Given the description of an element on the screen output the (x, y) to click on. 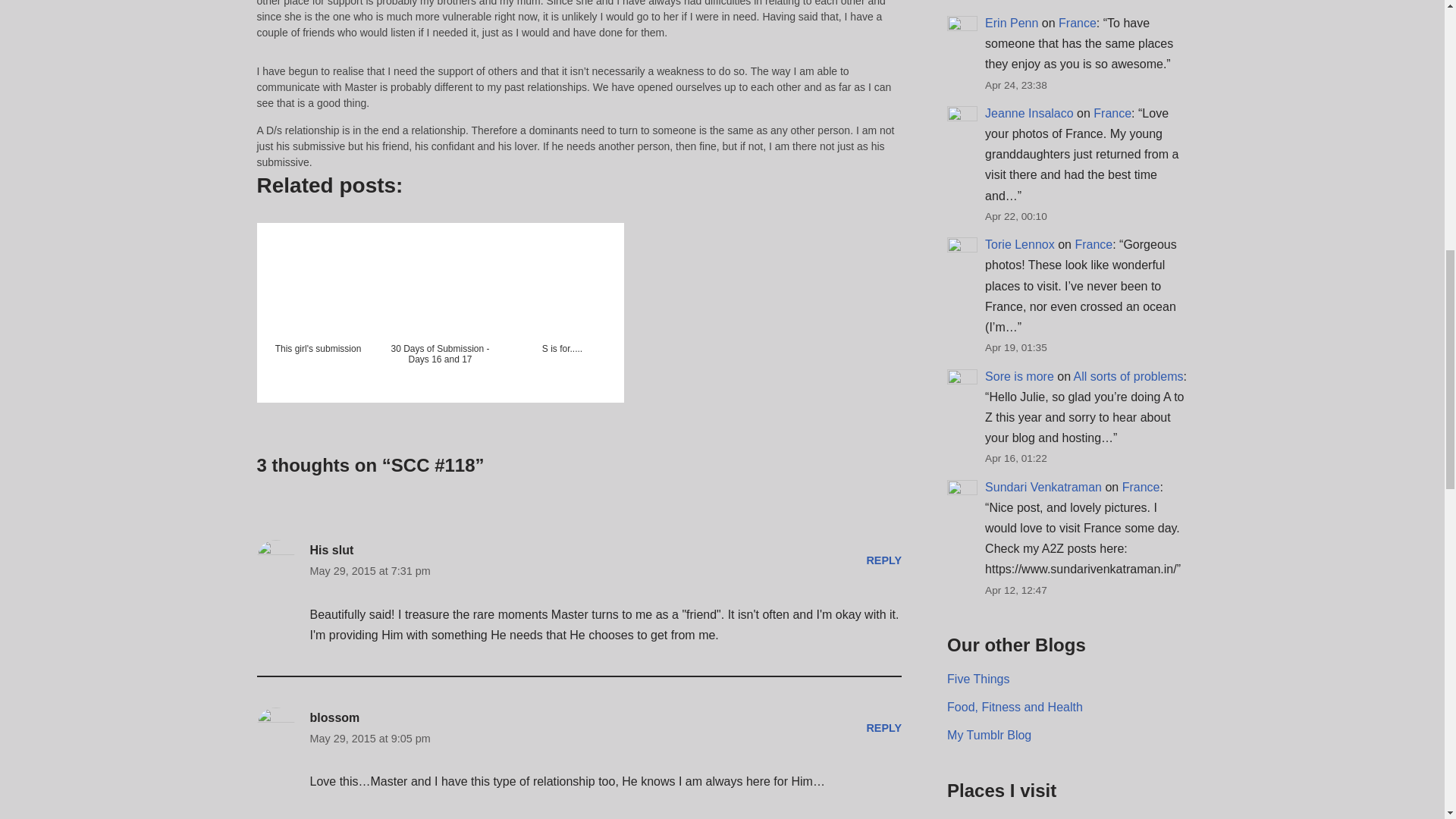
The Five Things Meme (978, 678)
May 29, 2015 at 7:31 pm (368, 570)
REPLY (883, 560)
blossom (333, 717)
